Given the description of an element on the screen output the (x, y) to click on. 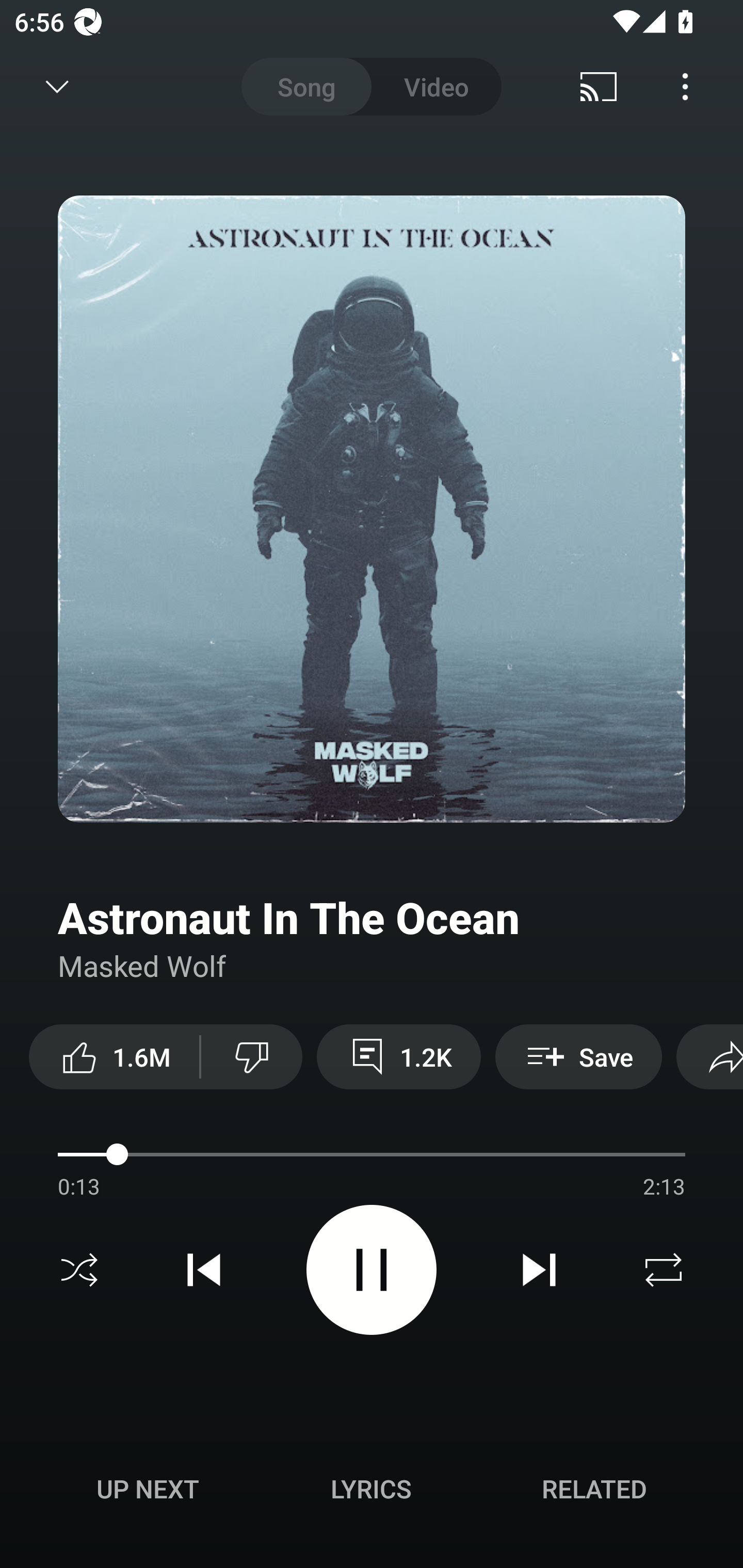
Minimize (57, 86)
Cast. Disconnected (598, 86)
Menu (684, 86)
Dislike (251, 1056)
1.2K View 1,254 comments (398, 1056)
Save Save to playlist (578, 1056)
Share (709, 1056)
Pause video (371, 1269)
Shuffle off (79, 1269)
Previous track (203, 1269)
Next track (538, 1269)
Repeat off (663, 1269)
Up next UP NEXT Lyrics LYRICS Related RELATED (371, 1491)
Lyrics LYRICS (370, 1488)
Related RELATED (594, 1488)
